Given the description of an element on the screen output the (x, y) to click on. 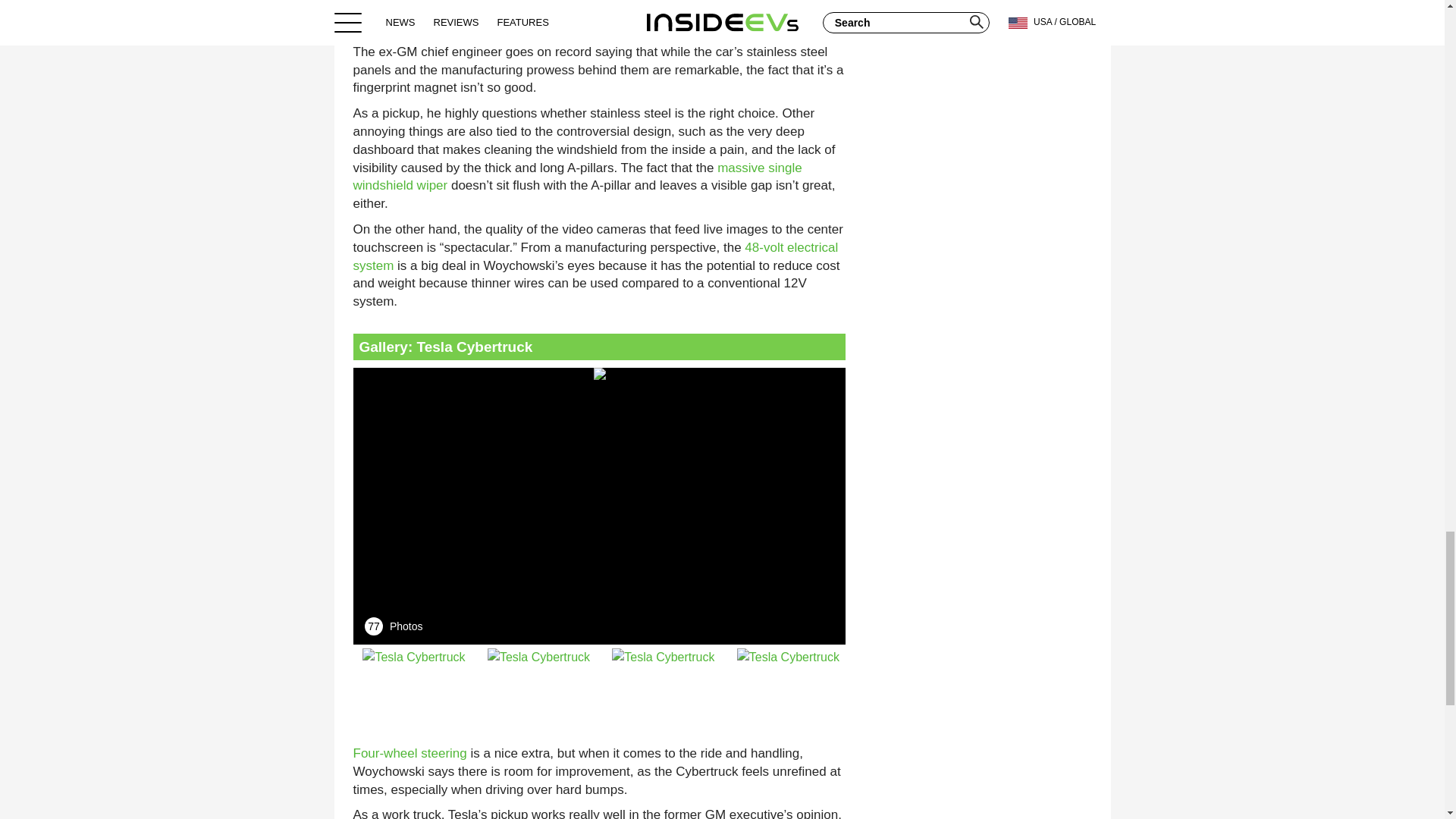
massive single windshield wiper (577, 176)
48-volt electrical system (595, 256)
